Given the description of an element on the screen output the (x, y) to click on. 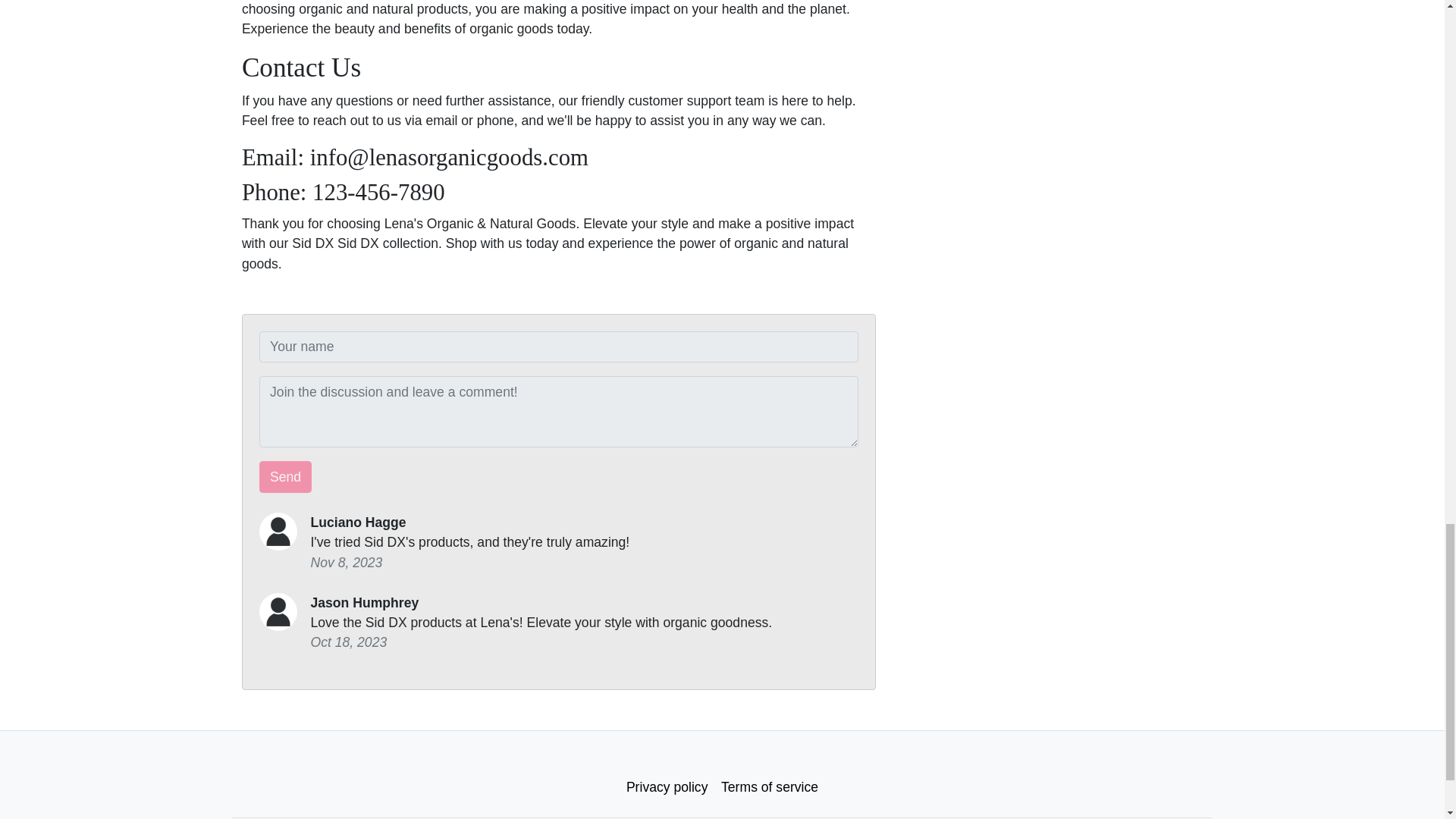
Send (285, 477)
Terms of service (769, 787)
Send (285, 477)
Privacy policy (667, 787)
